Given the description of an element on the screen output the (x, y) to click on. 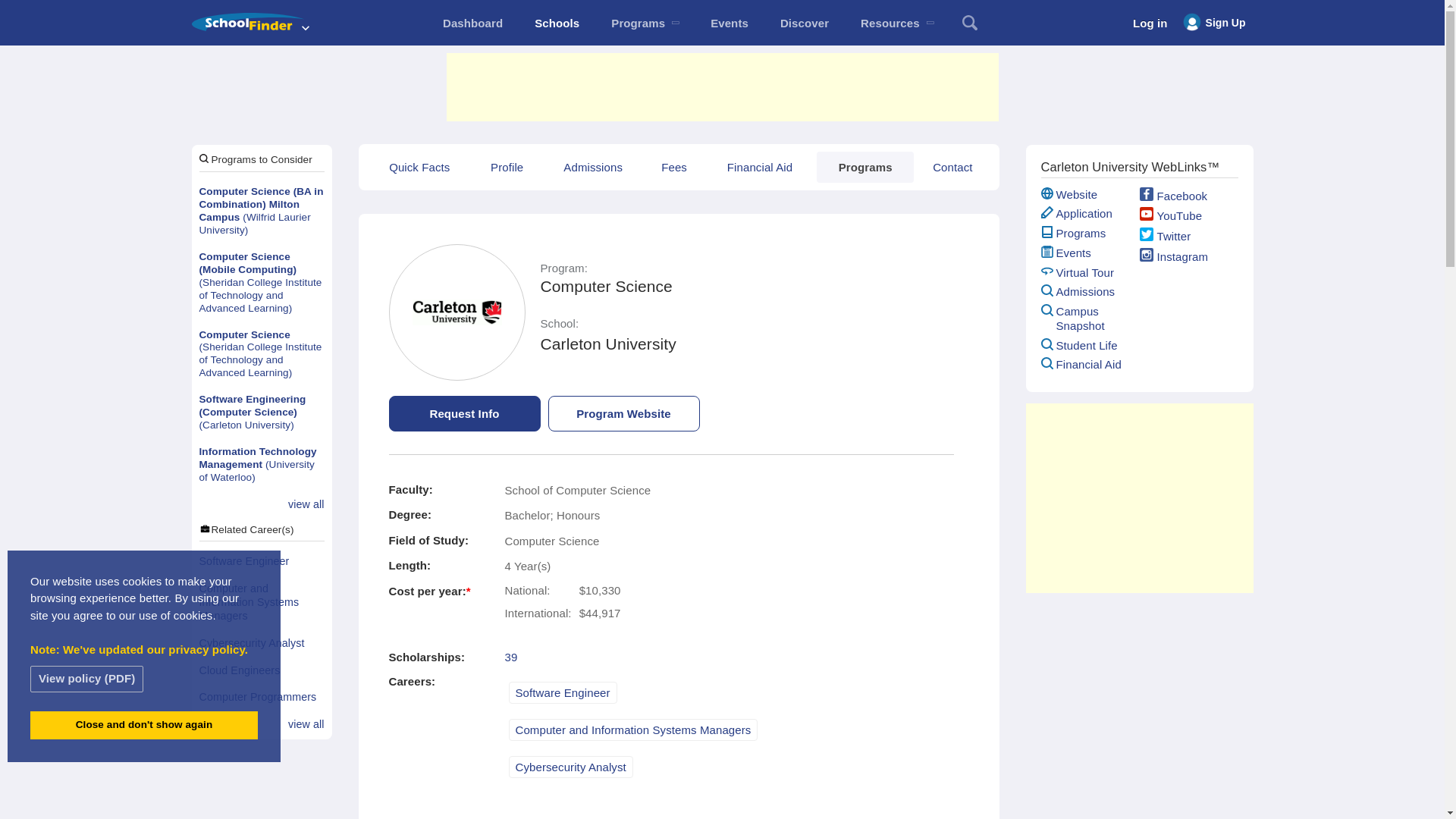
Schools (556, 22)
Advertisement (721, 87)
Advertisement (1138, 497)
Discover (804, 22)
Computer and Information Systems Managers (260, 602)
Schools (556, 22)
Resources (896, 22)
Close and don't show again (143, 725)
mySTUFF (472, 22)
Events (729, 22)
view all (306, 504)
Cloud Engineers (260, 671)
Cybersecurity Analyst (260, 643)
Computer Programmers (260, 697)
Dashboard (472, 22)
